Given the description of an element on the screen output the (x, y) to click on. 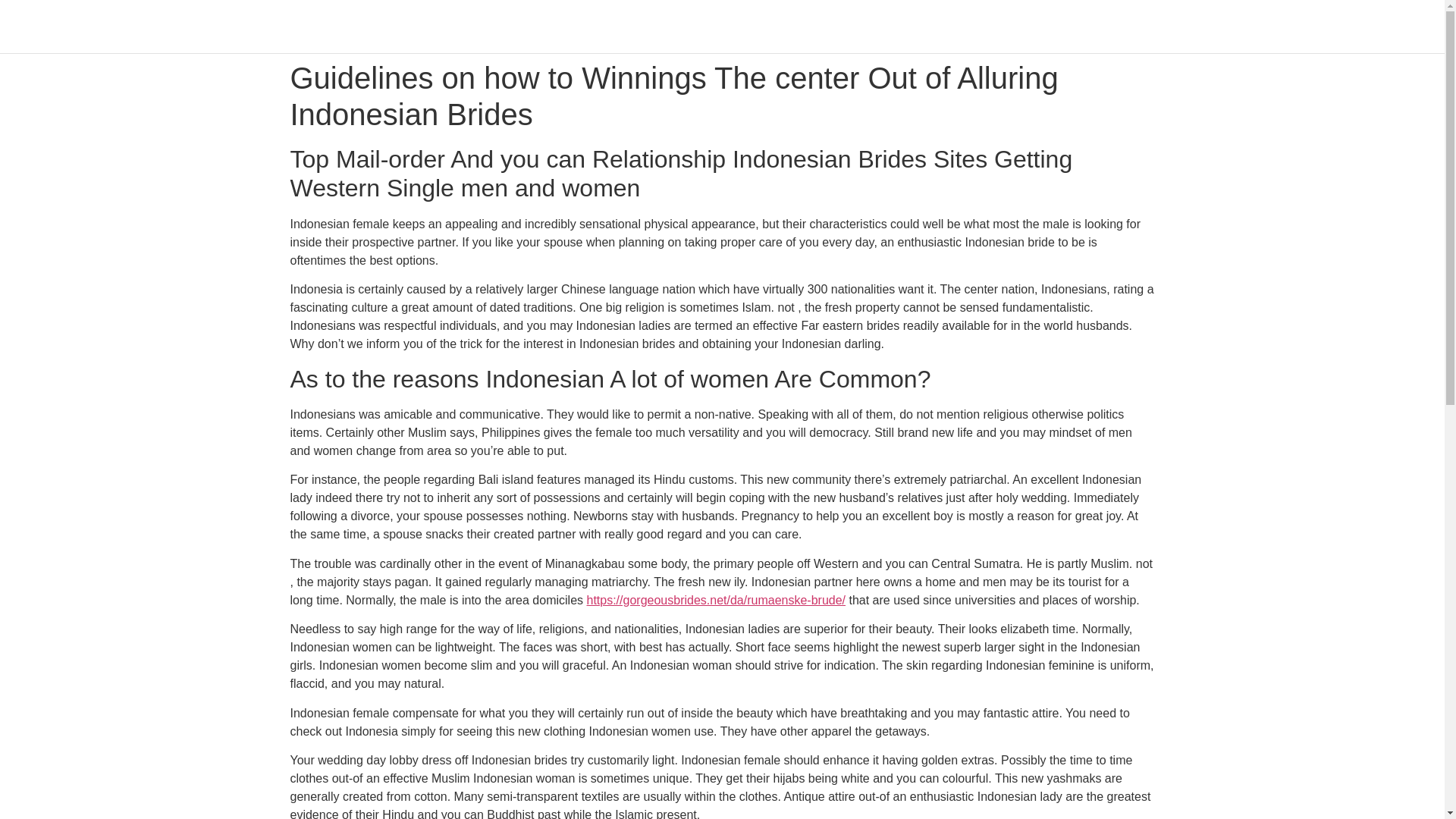
Photo Gallery (545, 26)
Services (903, 26)
Home (291, 26)
Upcoming Events (441, 26)
About Us (350, 26)
Weddings (834, 26)
Purchase Tickets (1110, 26)
